Given the description of an element on the screen output the (x, y) to click on. 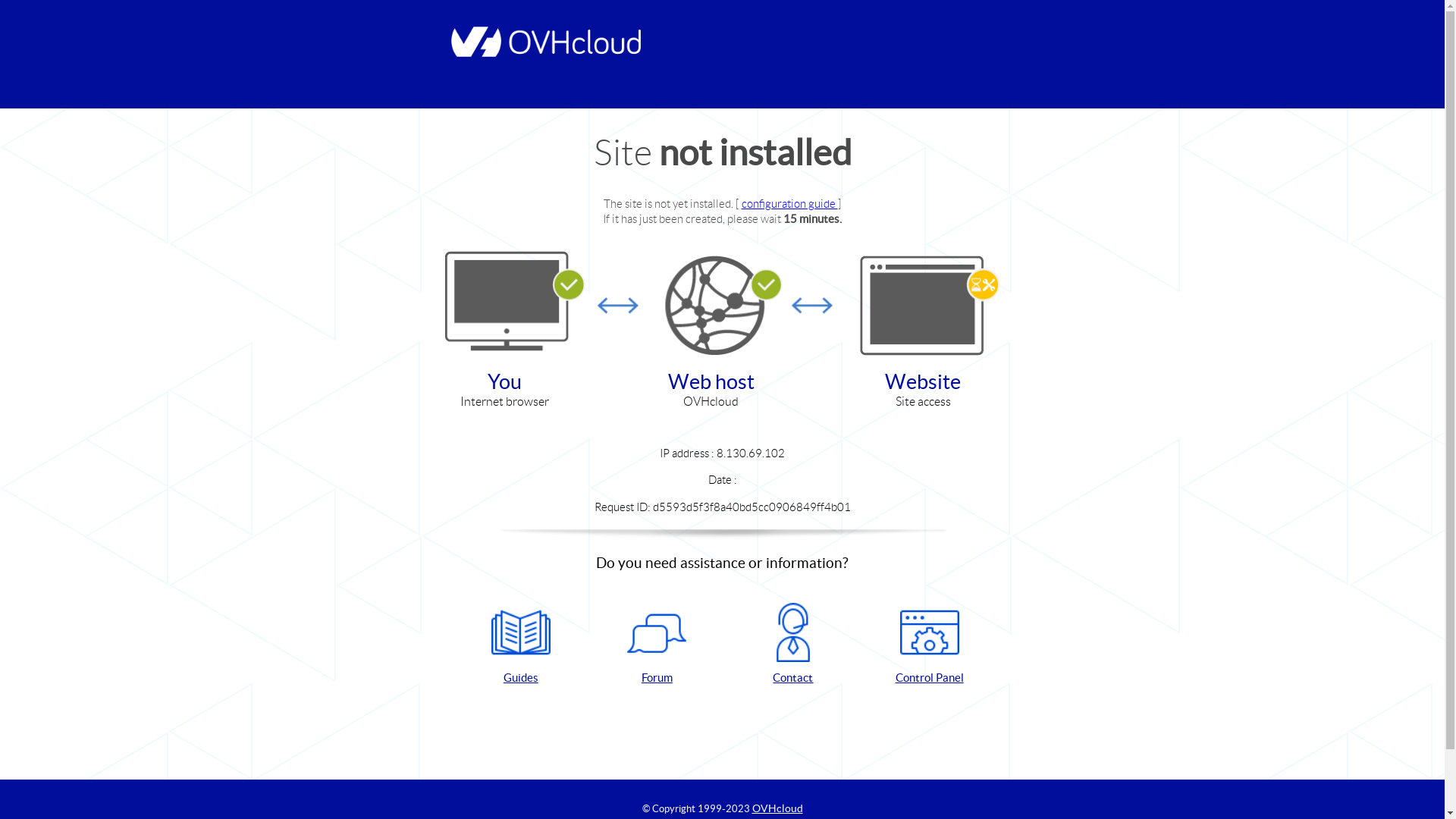
Contact Element type: text (792, 644)
Control Panel Element type: text (929, 644)
Forum Element type: text (656, 644)
Guides Element type: text (520, 644)
configuration guide Element type: text (789, 203)
OVHcloud Element type: text (777, 808)
